Given the description of an element on the screen output the (x, y) to click on. 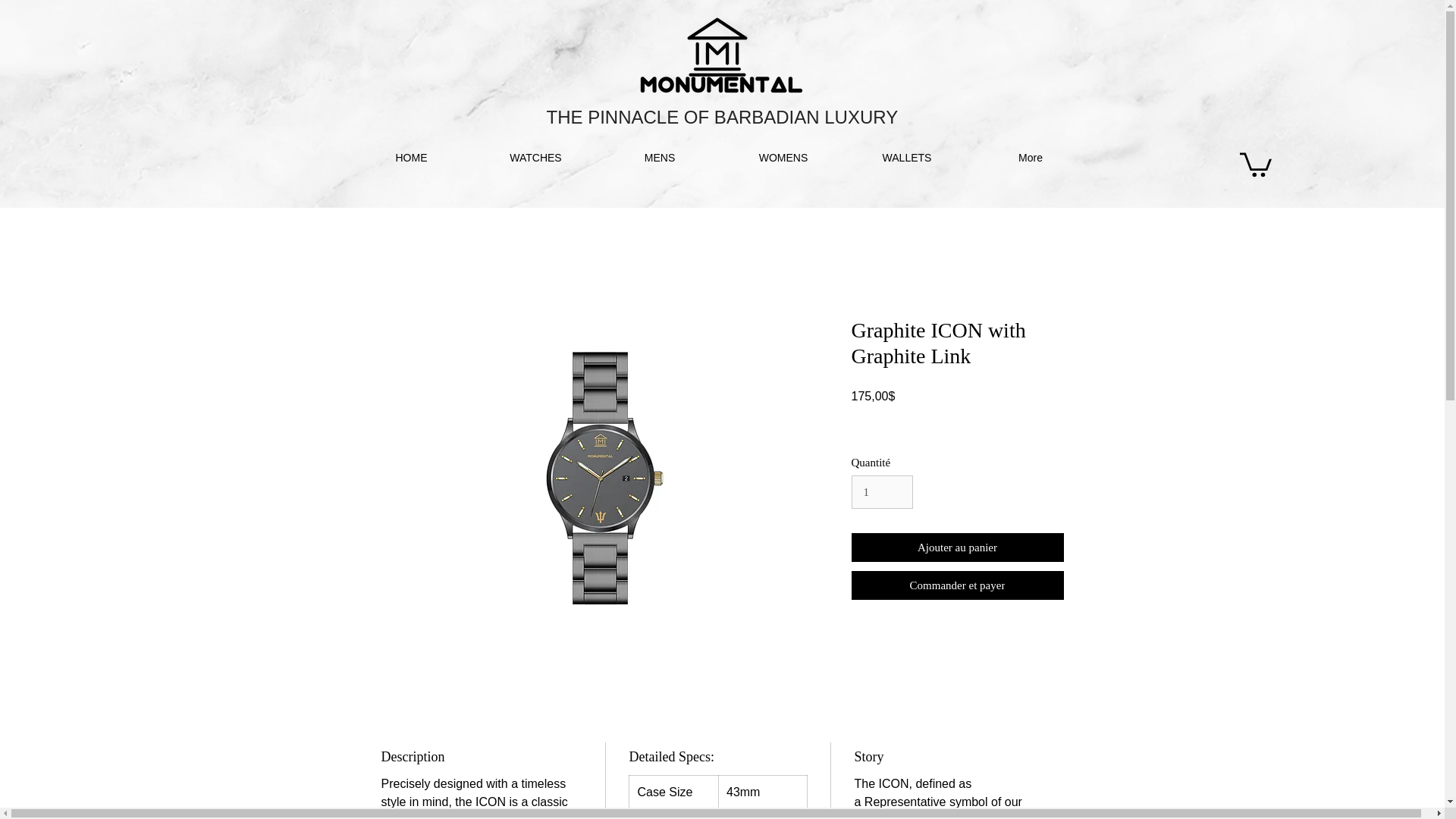
MENS (658, 157)
Ajouter au panier (956, 547)
Order on WhatsApp (955, 747)
1 (881, 491)
WOMENS (783, 157)
HOME (411, 157)
WALLETS (906, 157)
Commander et payer (956, 584)
WATCHES (534, 157)
